Given the description of an element on the screen output the (x, y) to click on. 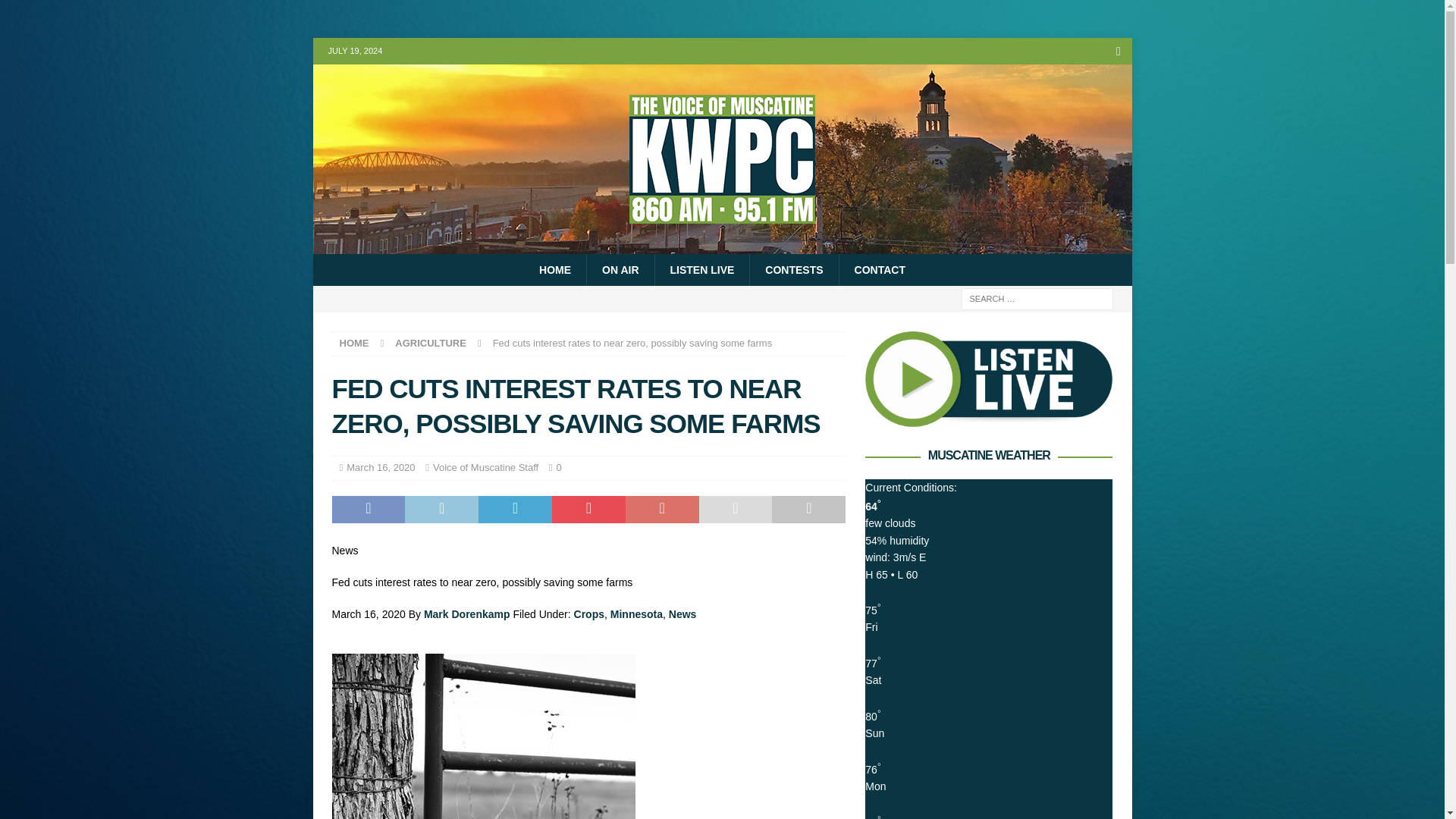
HOME (354, 342)
AGRICULTURE (429, 342)
LISTEN LIVE (701, 269)
ON AIR (619, 269)
Minnesota (636, 613)
CONTESTS (793, 269)
News (682, 613)
Mark Dorenkamp (467, 613)
HOME (555, 269)
Search (56, 11)
Crops (588, 613)
March 16, 2020 (380, 467)
CONTACT (879, 269)
Voice of Muscatine Staff (485, 467)
